Given the description of an element on the screen output the (x, y) to click on. 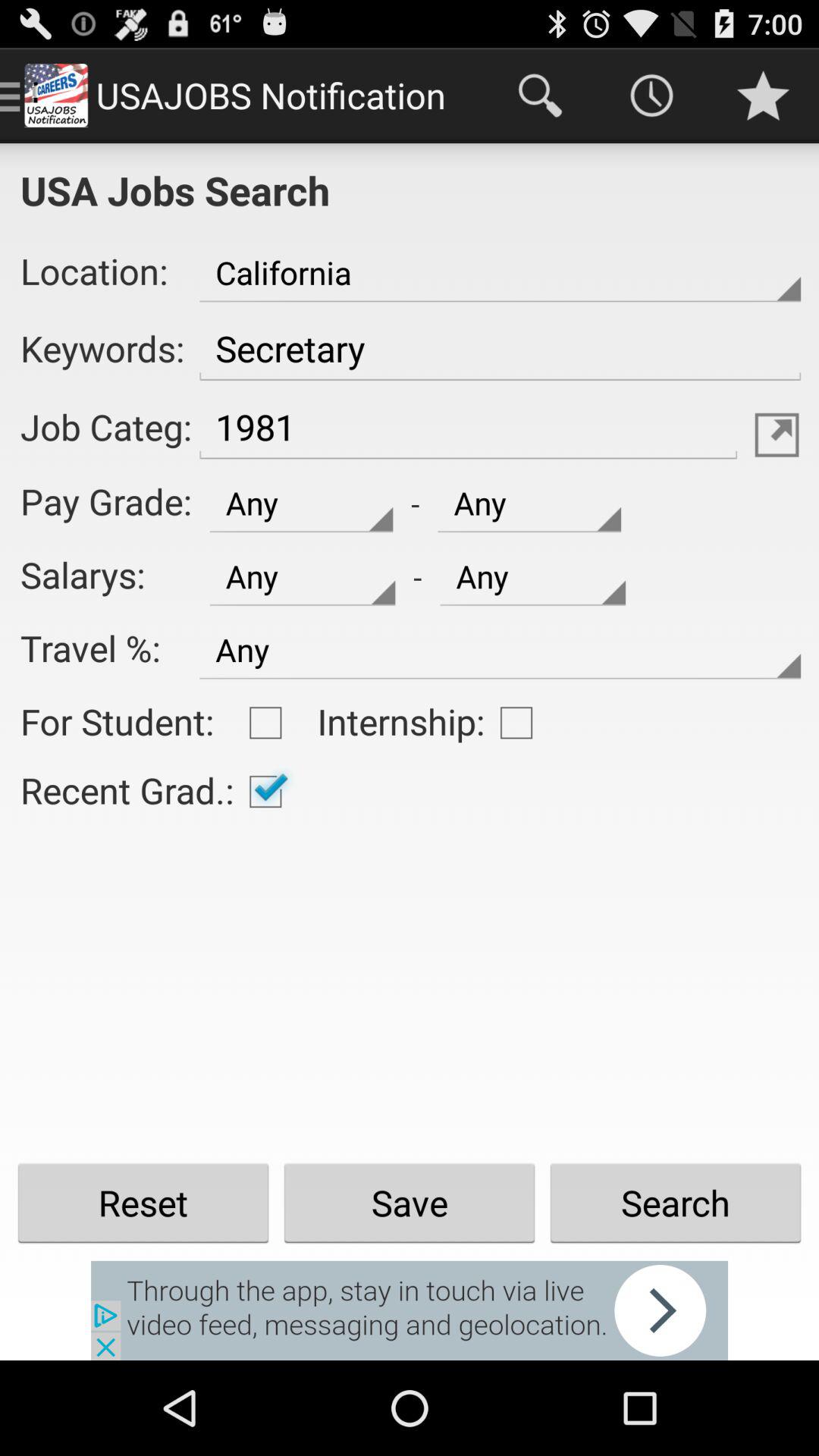
shows empty box (516, 722)
